Given the description of an element on the screen output the (x, y) to click on. 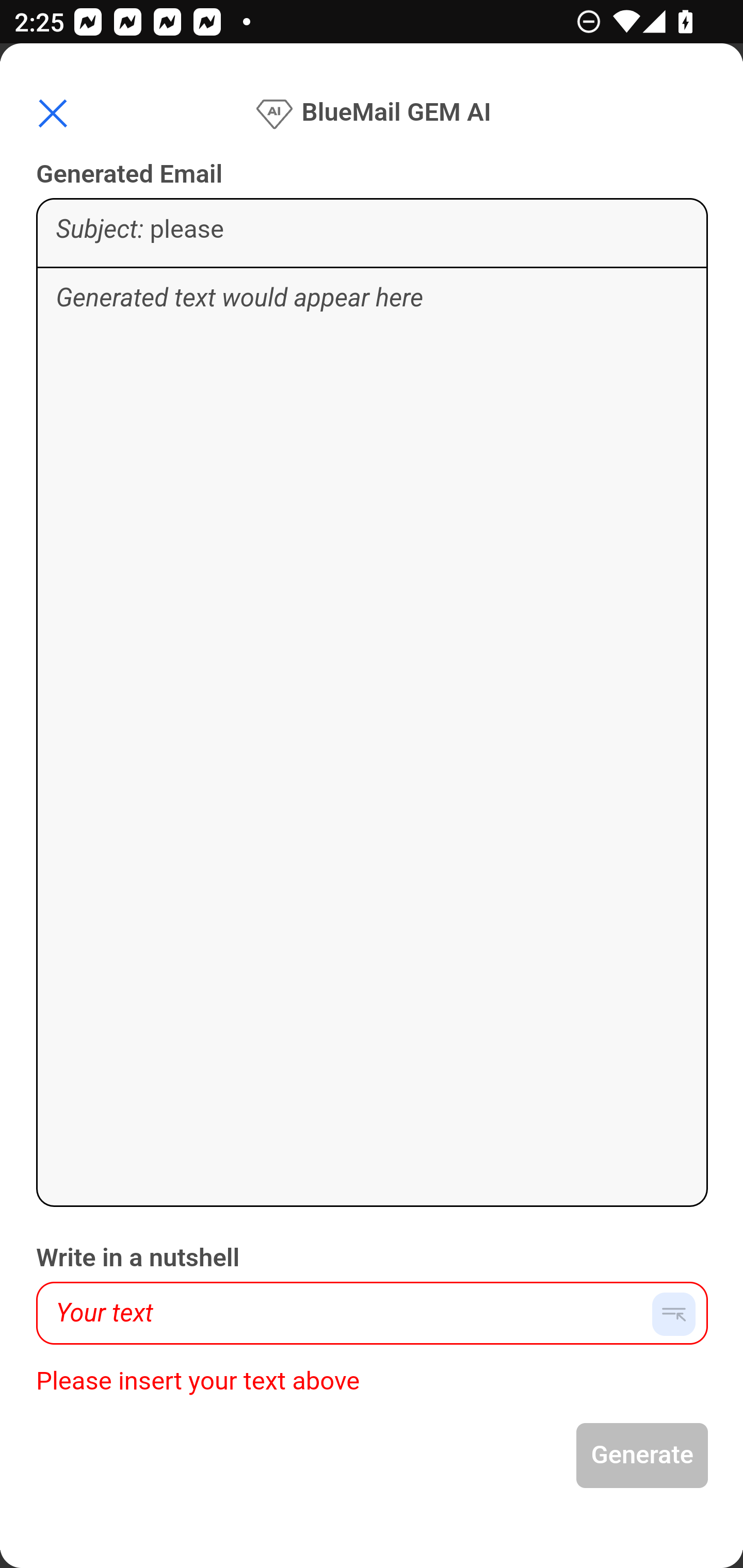
Generate (642, 1455)
